Given the description of an element on the screen output the (x, y) to click on. 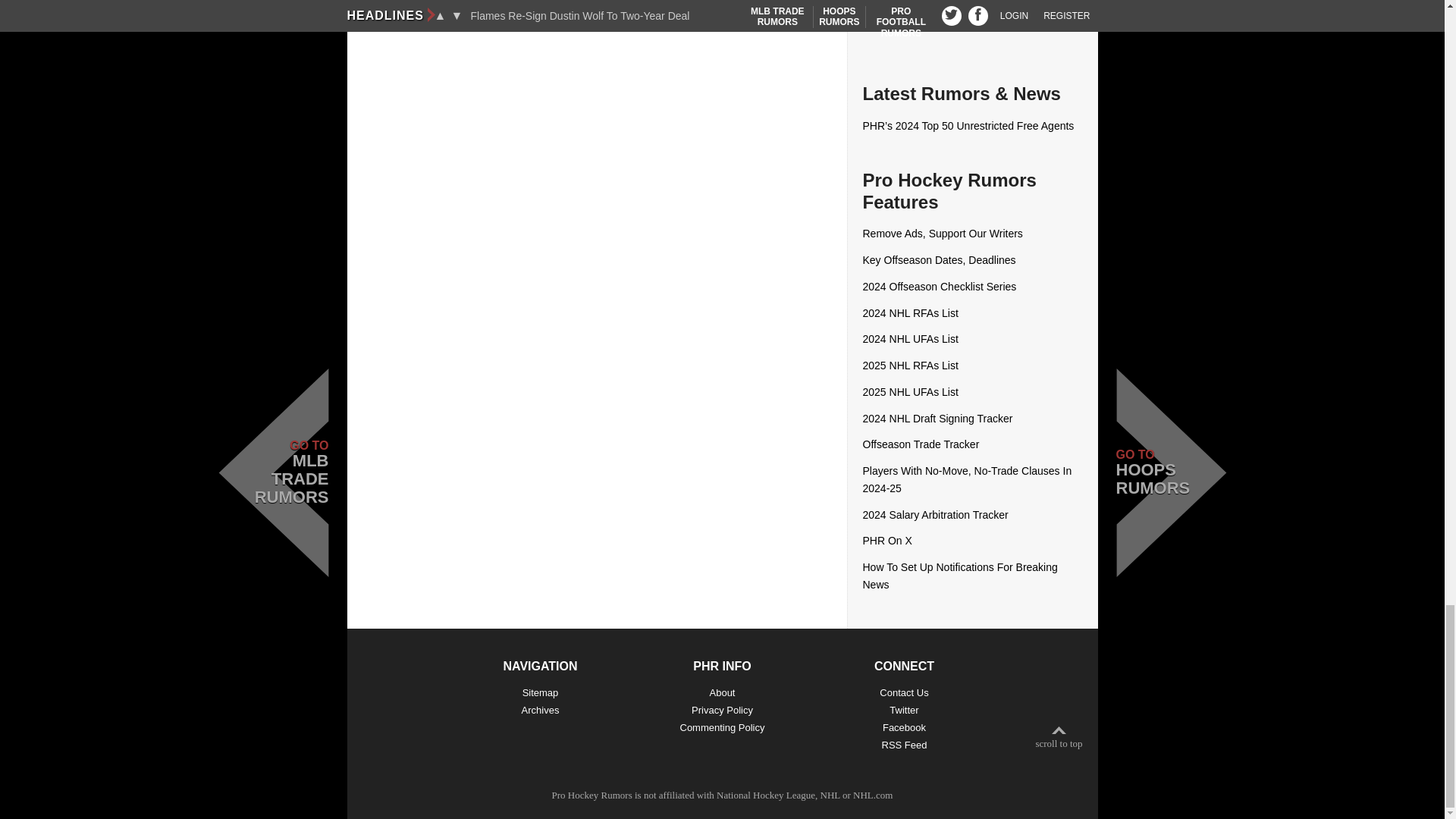
Pro Hockey Rumors (591, 794)
